Given the description of an element on the screen output the (x, y) to click on. 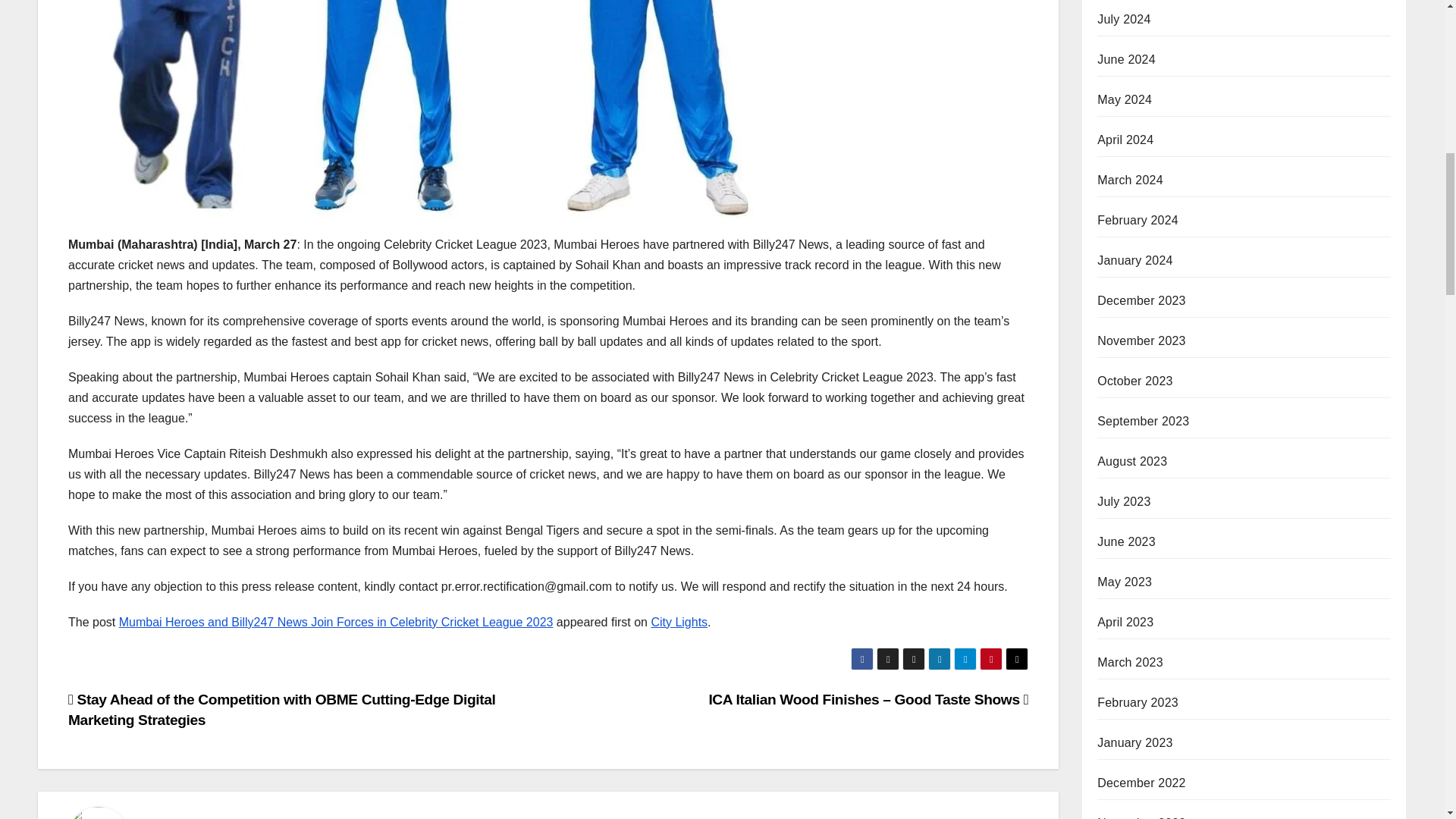
City Lights (678, 621)
